Given the description of an element on the screen output the (x, y) to click on. 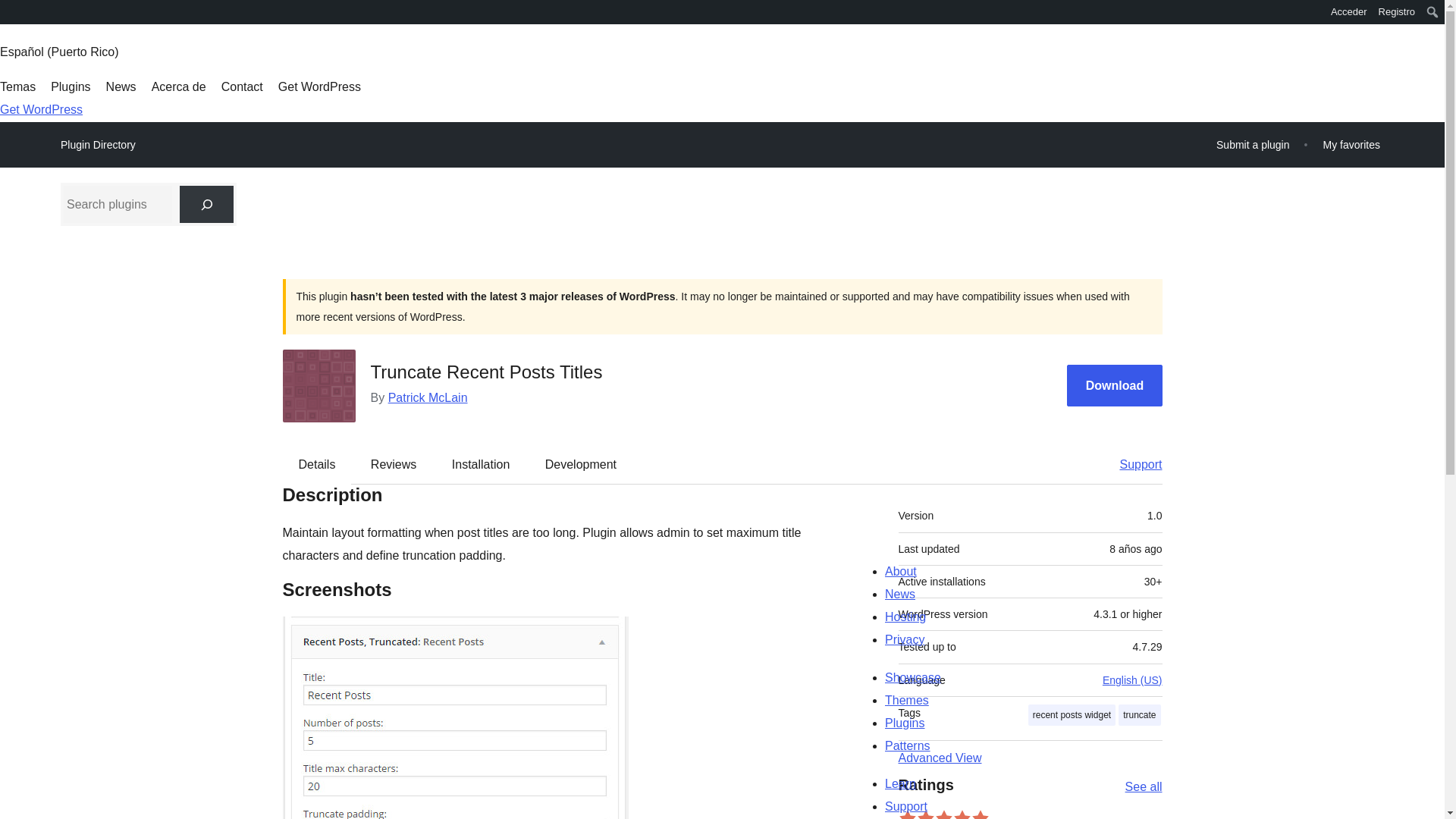
Development (580, 464)
WordPress.org (10, 10)
Details (316, 464)
Reviews (392, 464)
Patrick McLain (427, 397)
Get WordPress (41, 109)
Plugin Directory (97, 144)
Installation (480, 464)
Download (1114, 385)
Plugins (70, 87)
